Given the description of an element on the screen output the (x, y) to click on. 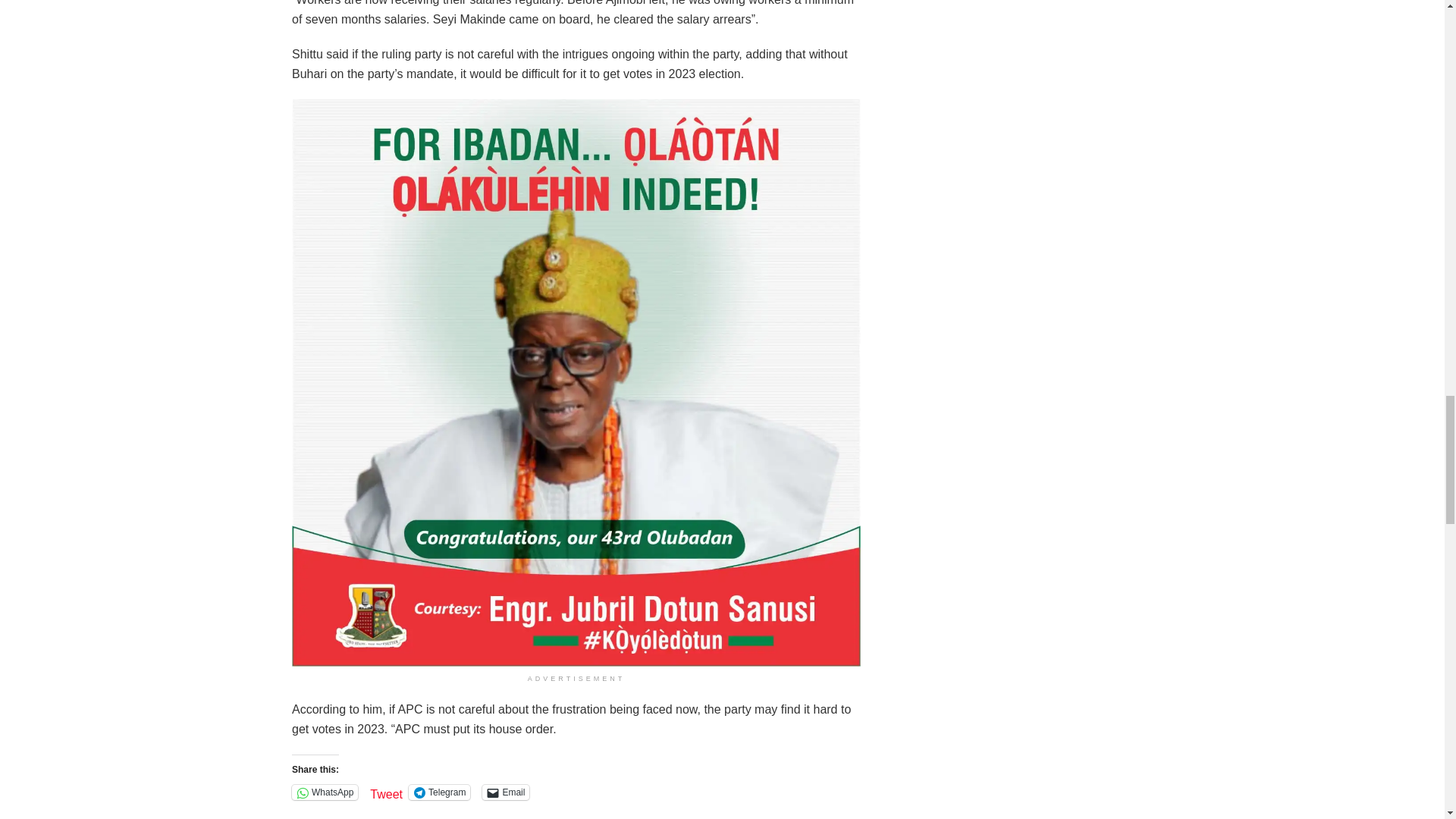
Click to email a link to a friend (505, 792)
Click to share on WhatsApp (325, 792)
Click to share on Telegram (439, 792)
